Given the description of an element on the screen output the (x, y) to click on. 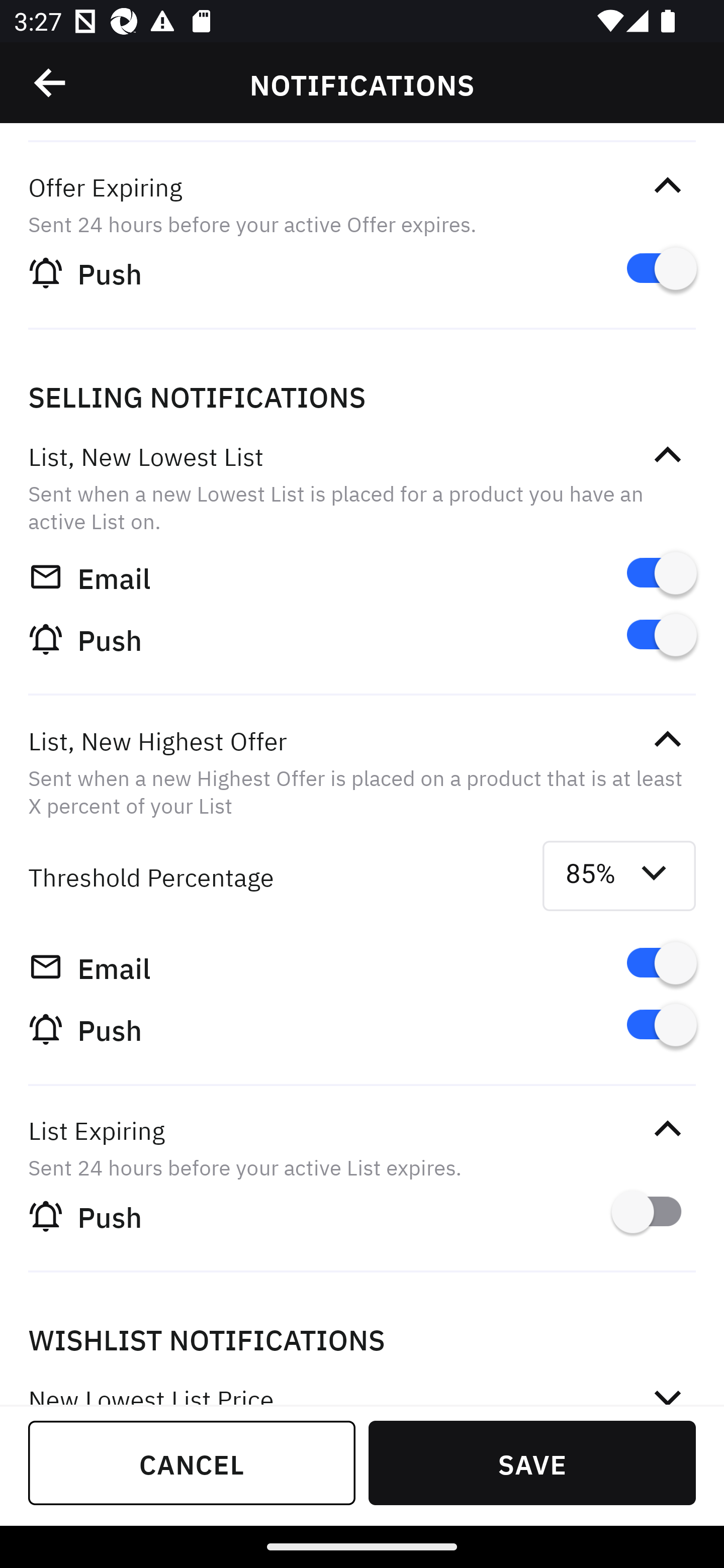
 (50, 83)
 (667, 185)
 (667, 455)
 (667, 739)
85%  (619, 876)
 (667, 1129)
 (667, 1389)
CANCEL (191, 1462)
SAVE (531, 1462)
